Given the description of an element on the screen output the (x, y) to click on. 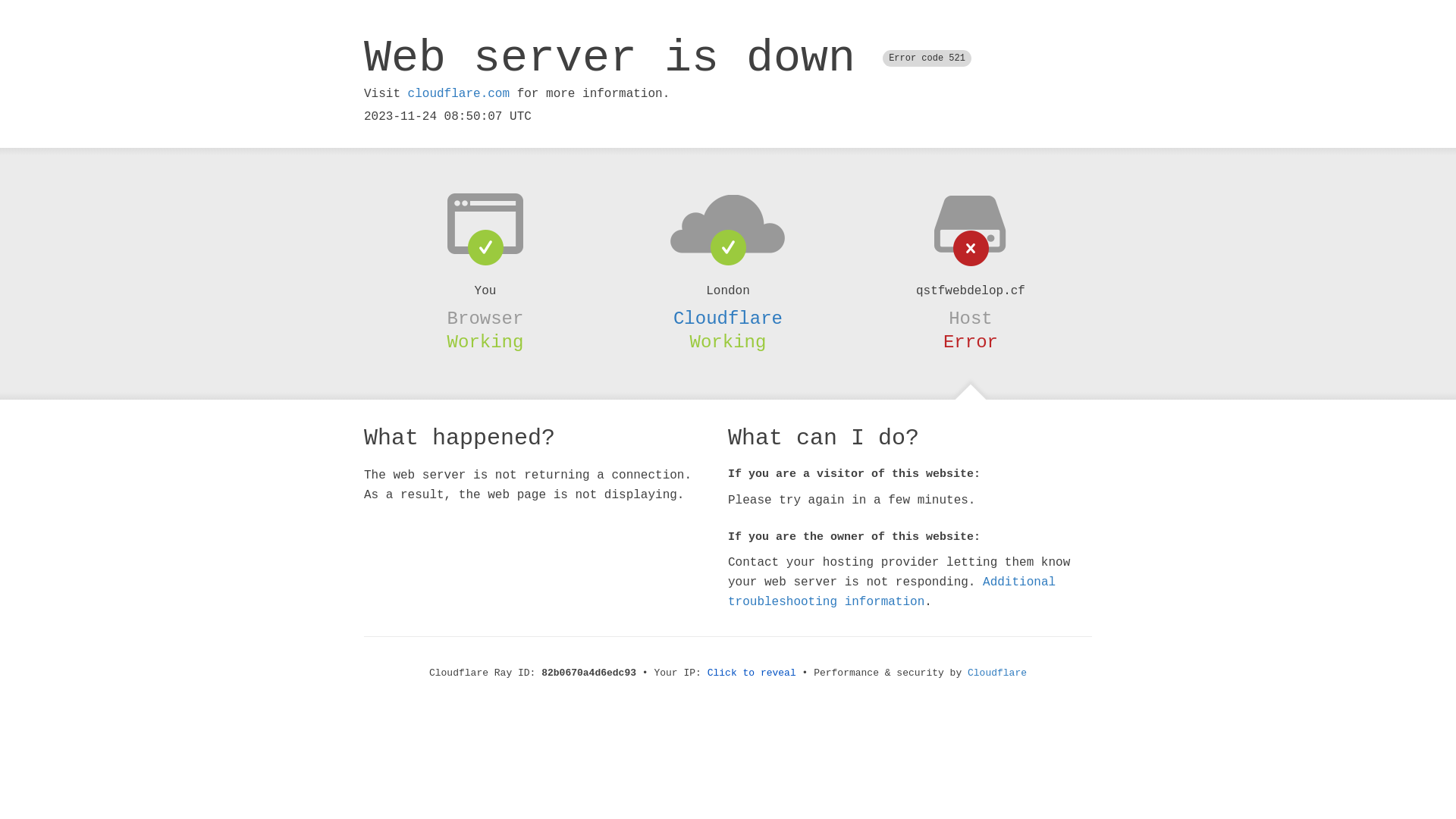
Click to reveal Element type: text (751, 672)
Additional troubleshooting information Element type: text (891, 591)
Cloudflare Element type: text (996, 672)
Cloudflare Element type: text (727, 318)
cloudflare.com Element type: text (458, 93)
